Given the description of an element on the screen output the (x, y) to click on. 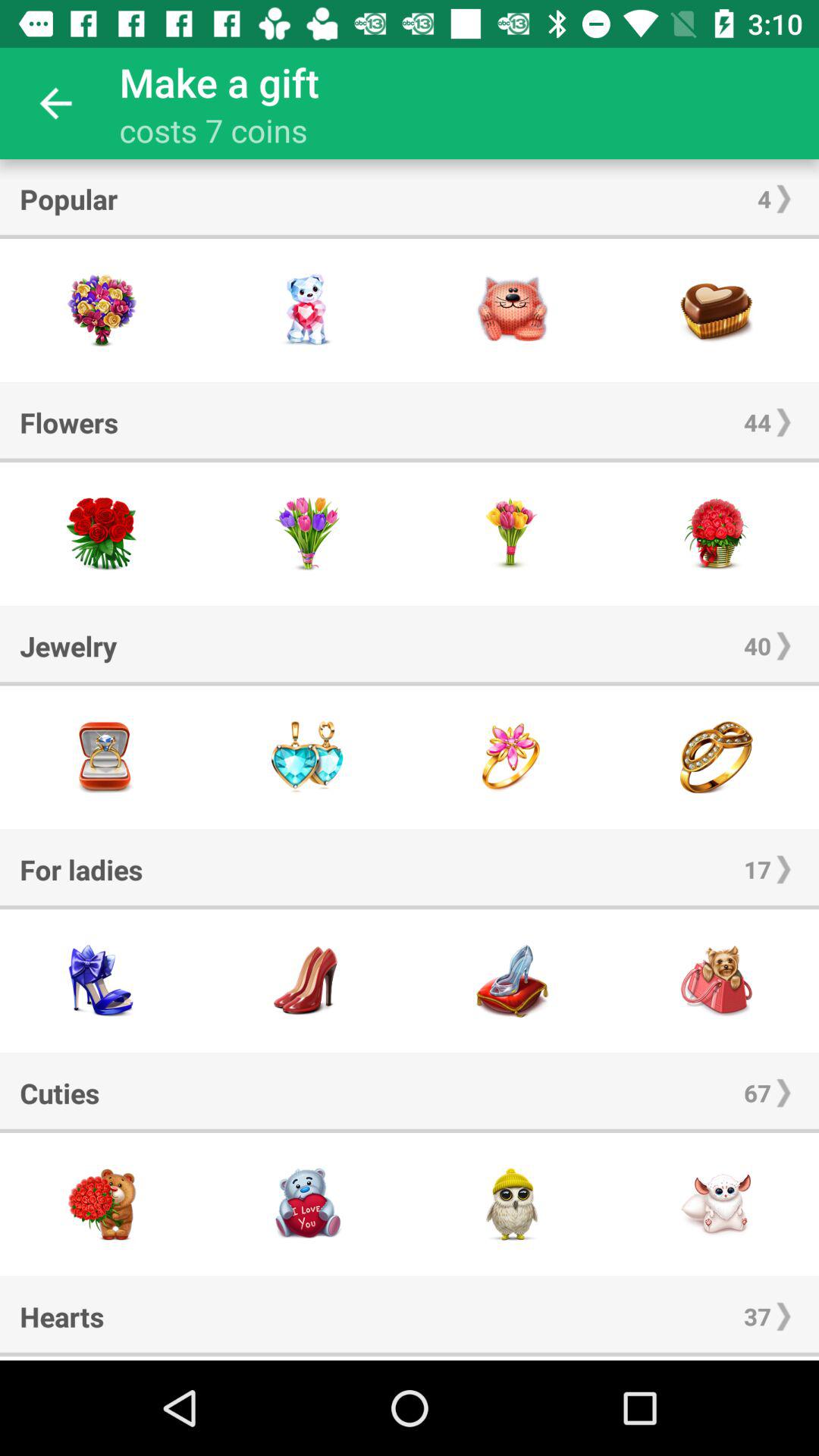
swipe to the 40 item (757, 645)
